Given the description of an element on the screen output the (x, y) to click on. 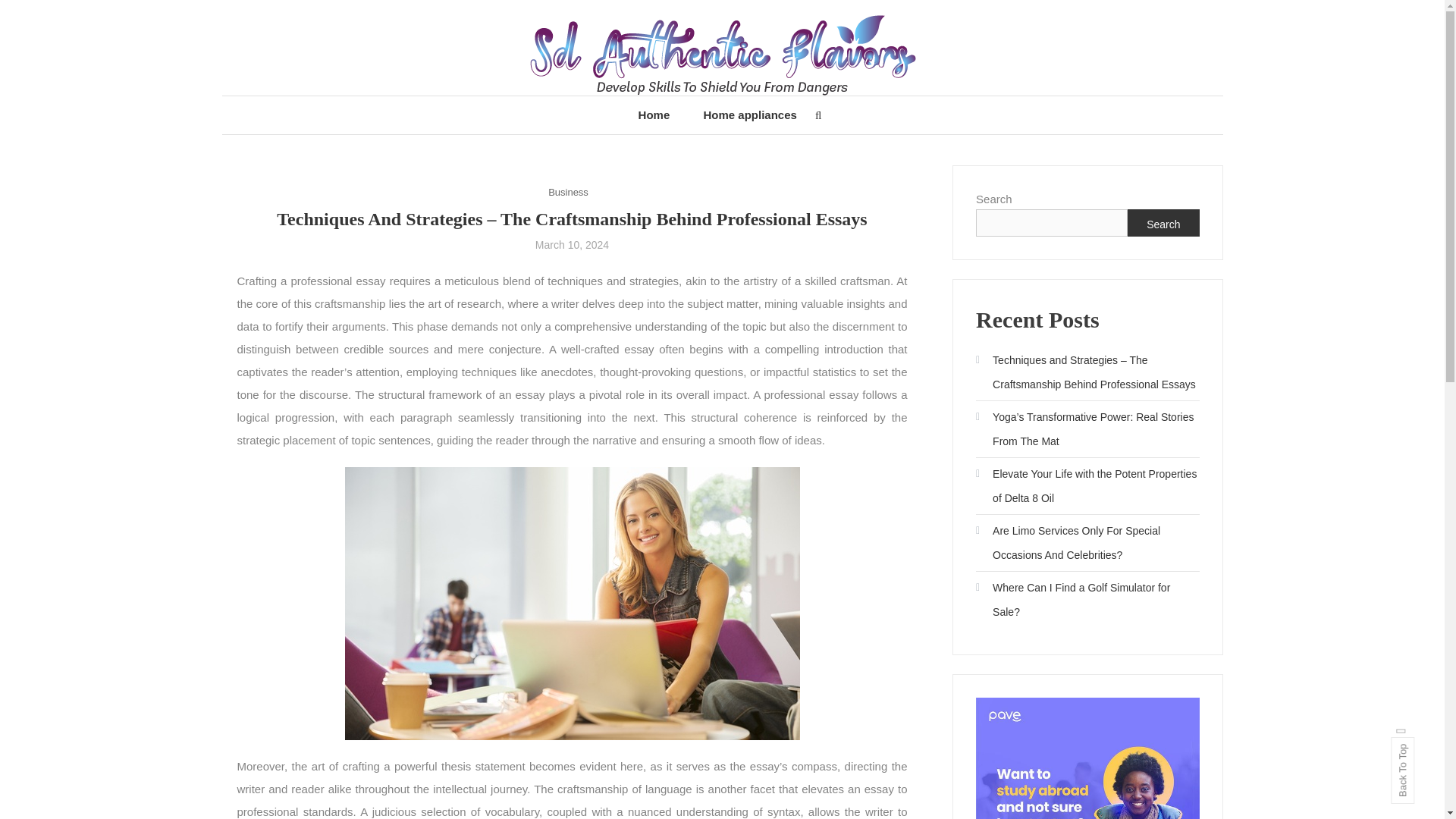
Sd Authentic Flavors (398, 120)
Where Can I Find a Golf Simulator for Sale? (1086, 599)
Search (768, 432)
Elevate Your Life with the Potent Properties of Delta 8 Oil (1086, 485)
Home (654, 115)
Home appliances (748, 115)
Business (568, 191)
March 10, 2024 (571, 244)
Search (1162, 222)
